Given the description of an element on the screen output the (x, y) to click on. 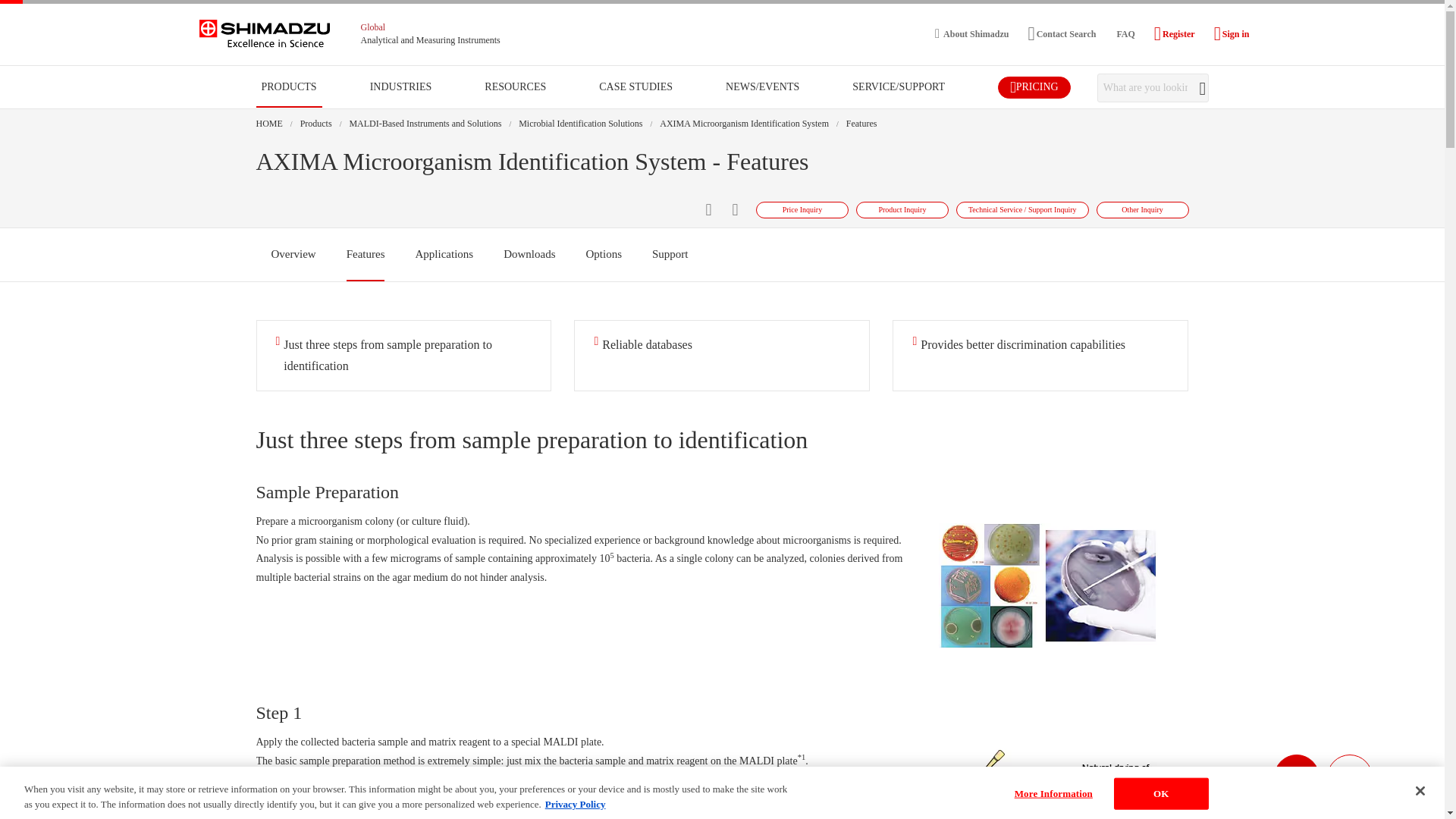
Features (861, 122)
Contact Search (1061, 33)
HOME (269, 122)
About Shimadzu (971, 33)
PRICING (1033, 87)
FAQ (1124, 33)
Microbial Identification Solutions (580, 122)
Reliable databases (722, 355)
MALDI-Based Instruments and Solutions (424, 122)
Global (373, 26)
